Given the description of an element on the screen output the (x, y) to click on. 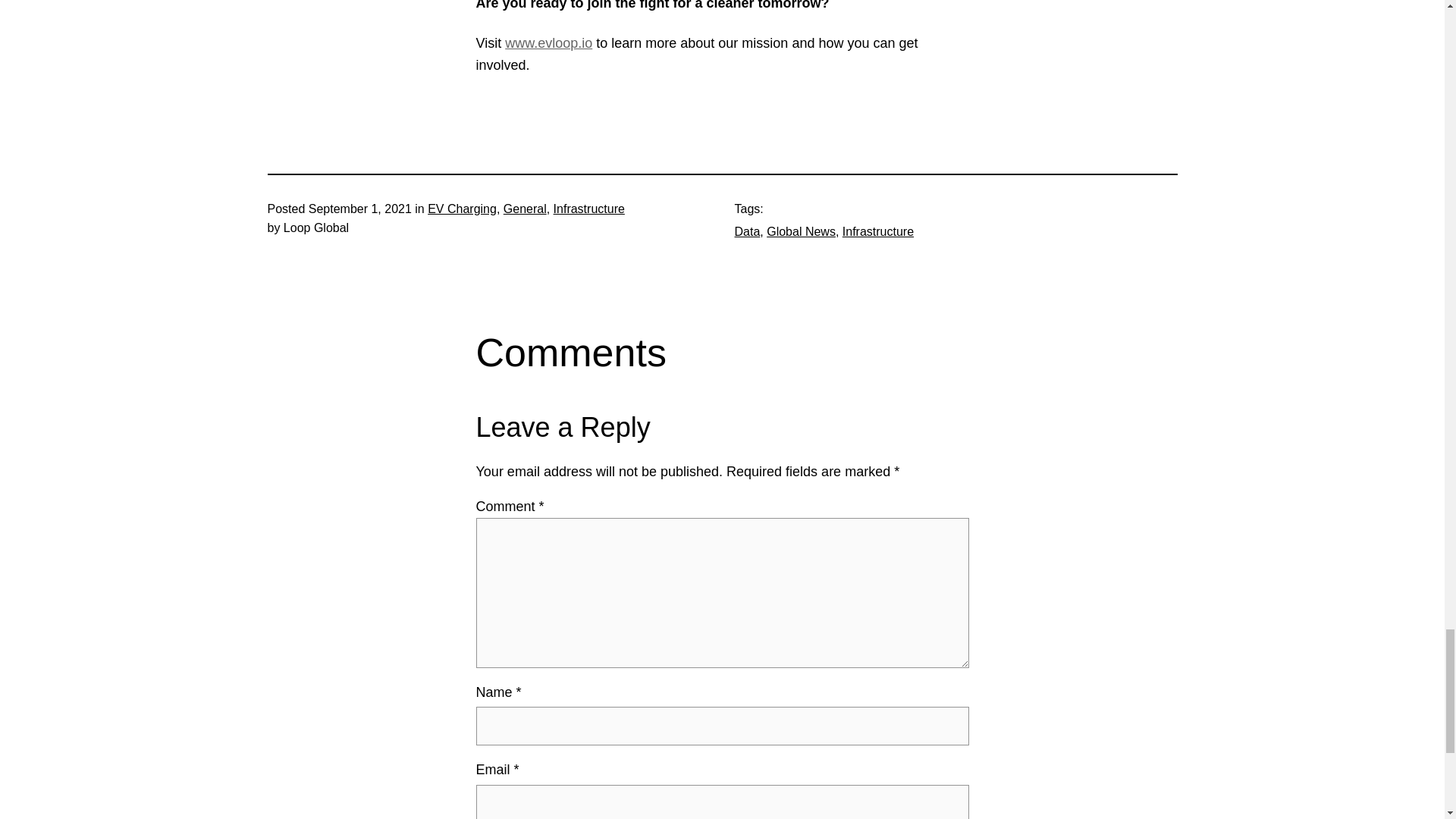
EV Charging (462, 208)
Infrastructure (588, 208)
General (525, 208)
Infrastructure (878, 231)
Data (746, 231)
Global News (801, 231)
www.evloop.io (548, 43)
